Given the description of an element on the screen output the (x, y) to click on. 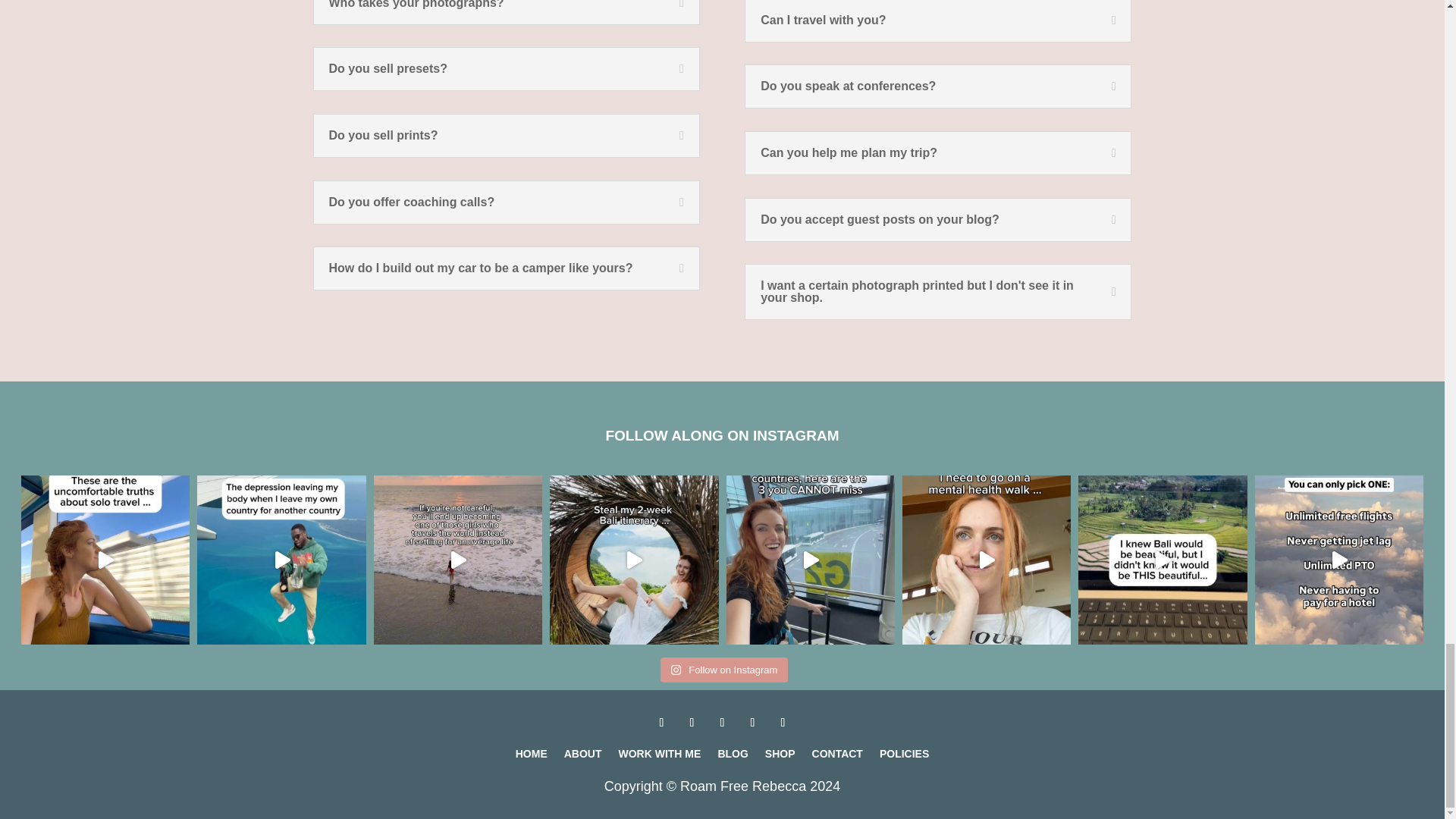
Follow on Instagram (660, 722)
Follow on TikTok (691, 722)
Follow on Facebook (782, 722)
Follow on Pinterest (751, 722)
Follow on Youtube (721, 722)
